Given the description of an element on the screen output the (x, y) to click on. 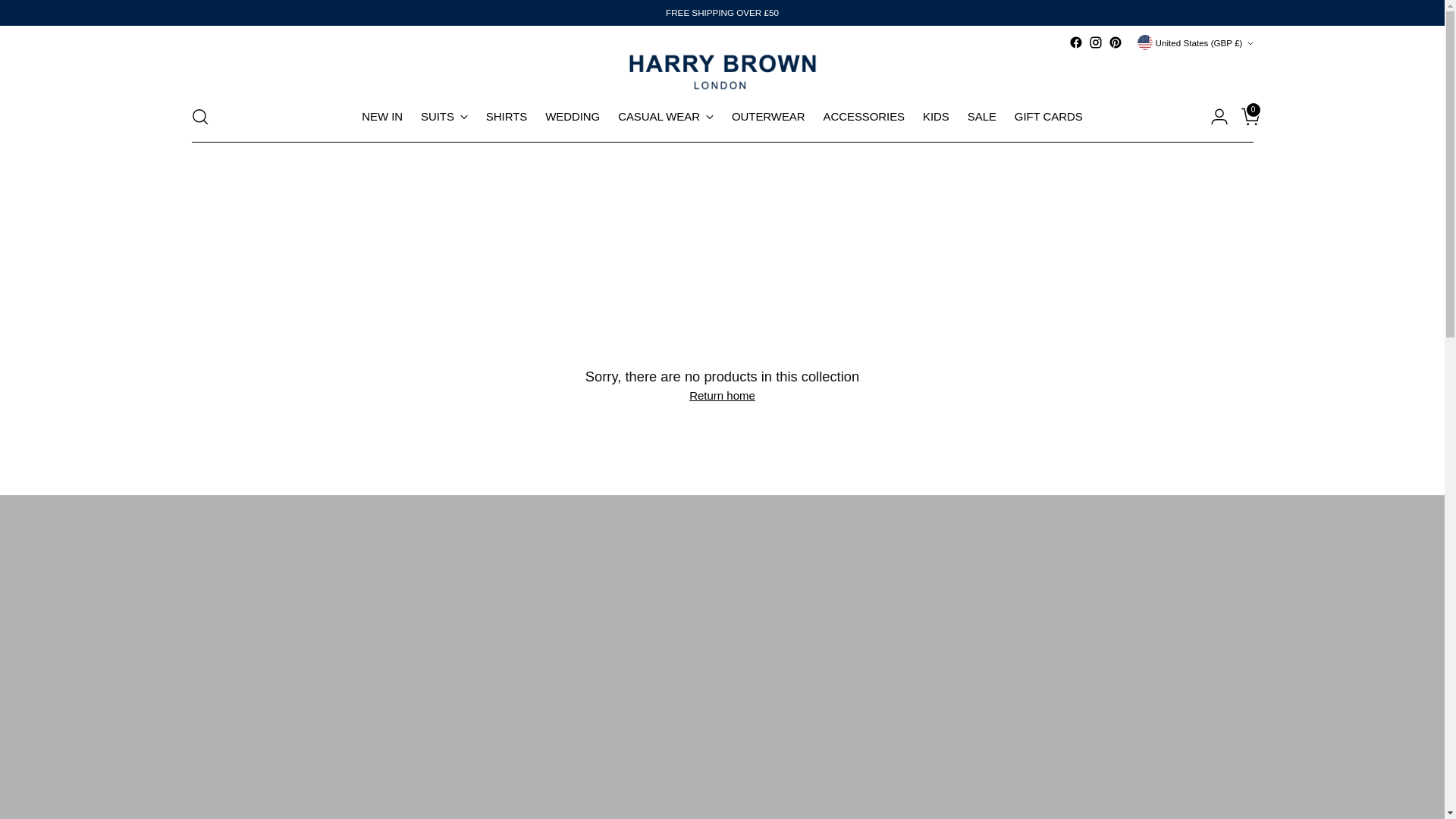
Harry Brown Menswear on Instagram (1095, 42)
Harry Brown Menswear on Pinterest (1115, 42)
Harry Brown Menswear on Facebook (1075, 42)
